Given the description of an element on the screen output the (x, y) to click on. 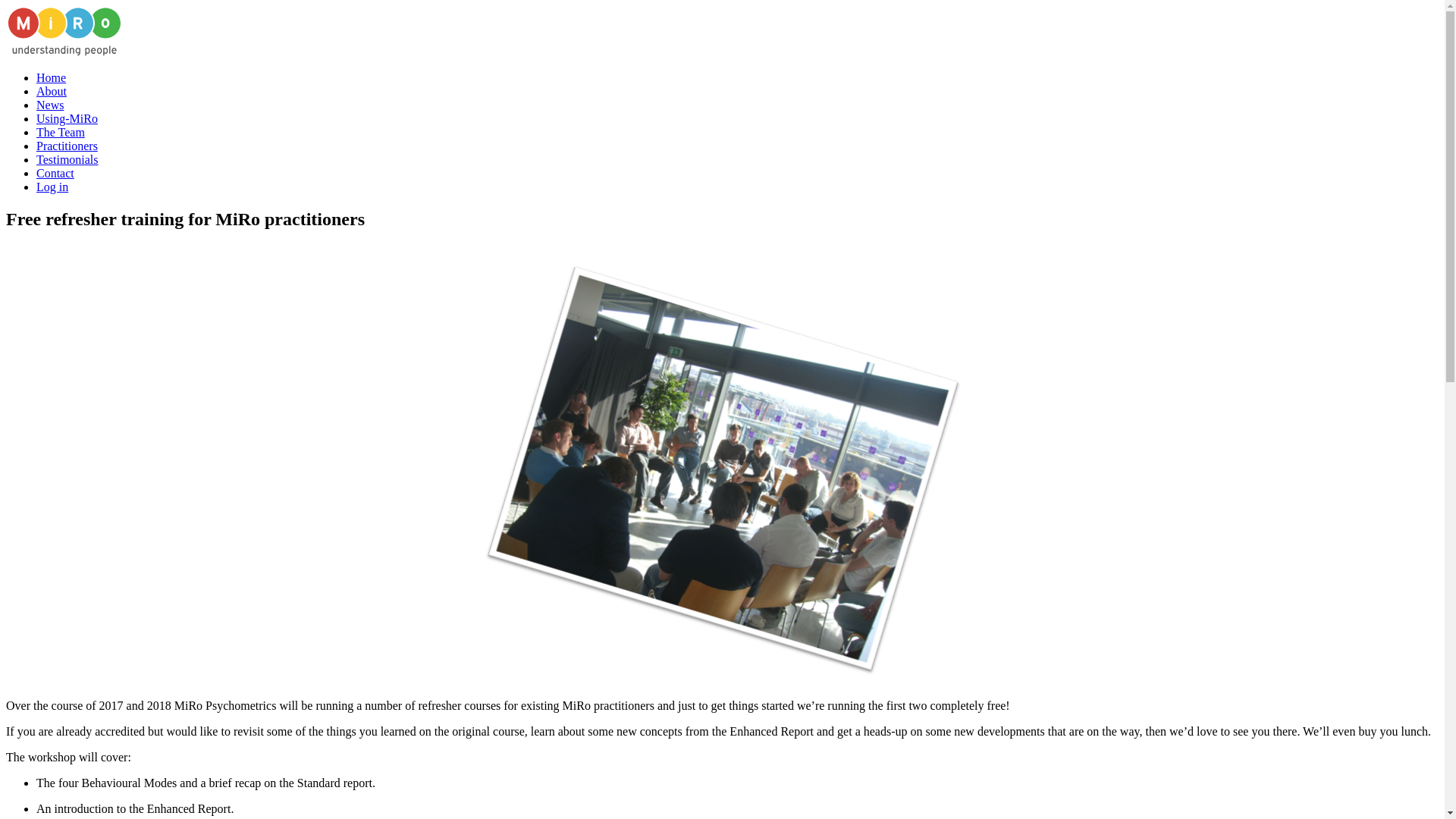
Using-MiRo (66, 118)
MiRo Practitioner Login (52, 186)
The Team (60, 132)
Using-MiRo (66, 118)
News (50, 104)
Home (50, 77)
About (51, 91)
Practitioners (66, 145)
MiRo Psychometrics (63, 51)
Contact (55, 173)
The Team (60, 132)
Contact (55, 173)
About (51, 91)
Home (50, 77)
News (50, 104)
